Given the description of an element on the screen output the (x, y) to click on. 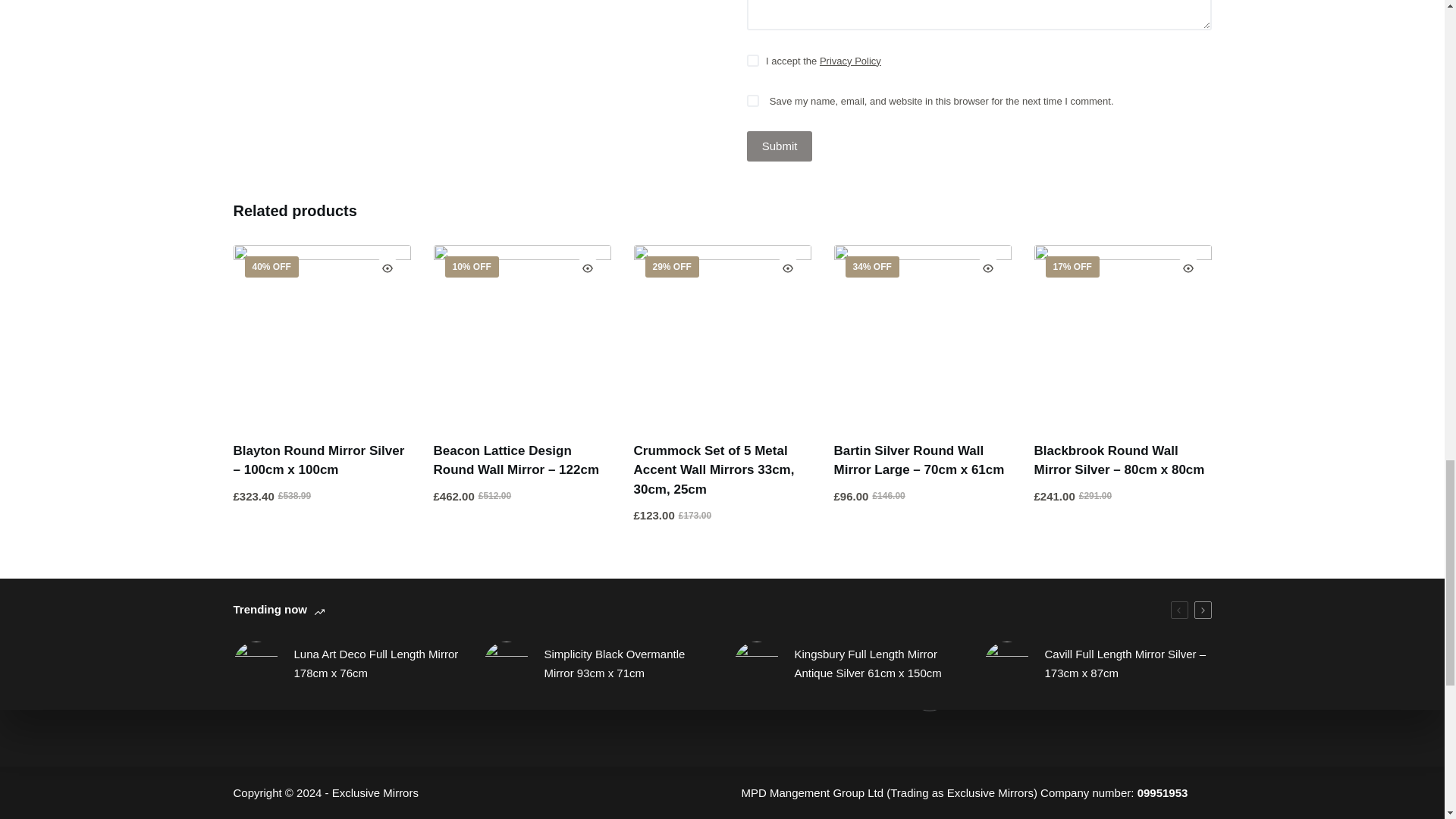
on (752, 60)
yes (752, 101)
